Given the description of an element on the screen output the (x, y) to click on. 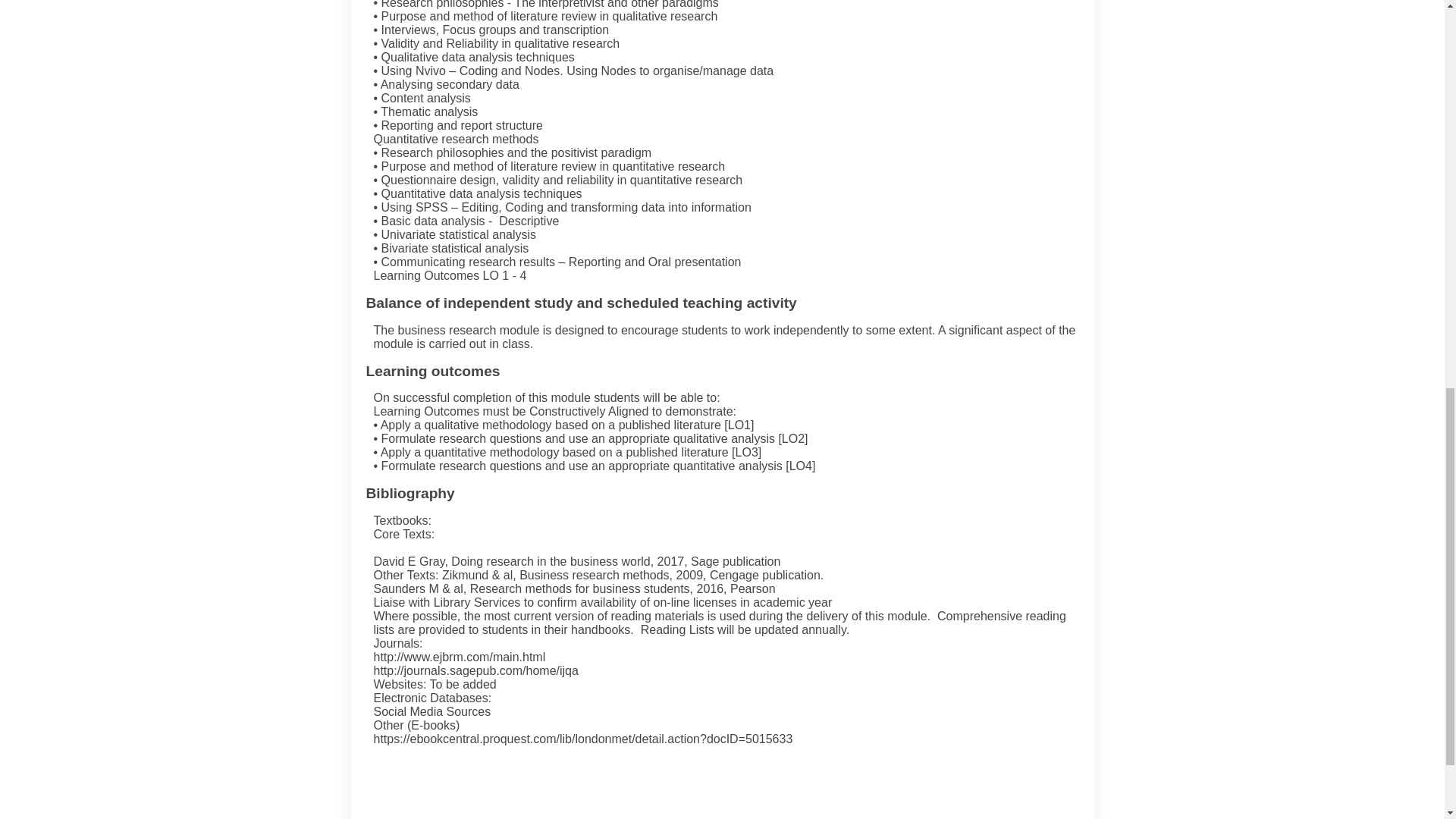
Advertisement (729, 791)
